Given the description of an element on the screen output the (x, y) to click on. 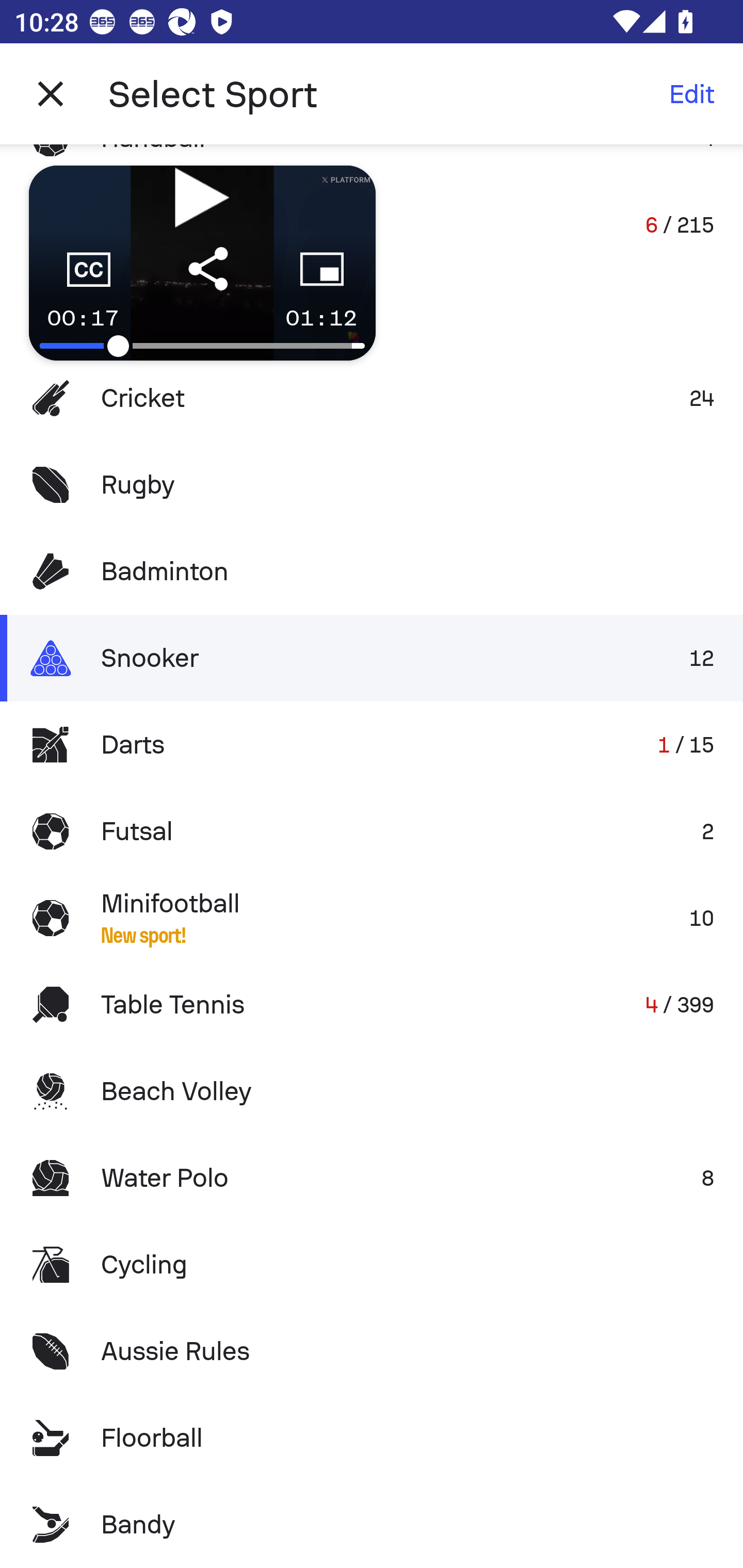
Edit (691, 93)
Cricket 24 (371, 398)
Rugby (371, 485)
Badminton (371, 571)
Snooker 12 (371, 657)
Darts 1 / 15 (371, 744)
Futsal 2 (371, 831)
Minifootball New sport! 10 (371, 917)
Table Tennis 4 / 399 (371, 1004)
Beach Volley (371, 1091)
Water Polo 8 (371, 1178)
Cycling (371, 1264)
Aussie Rules (371, 1350)
Floorball (371, 1437)
Bandy (371, 1524)
